Given the description of an element on the screen output the (x, y) to click on. 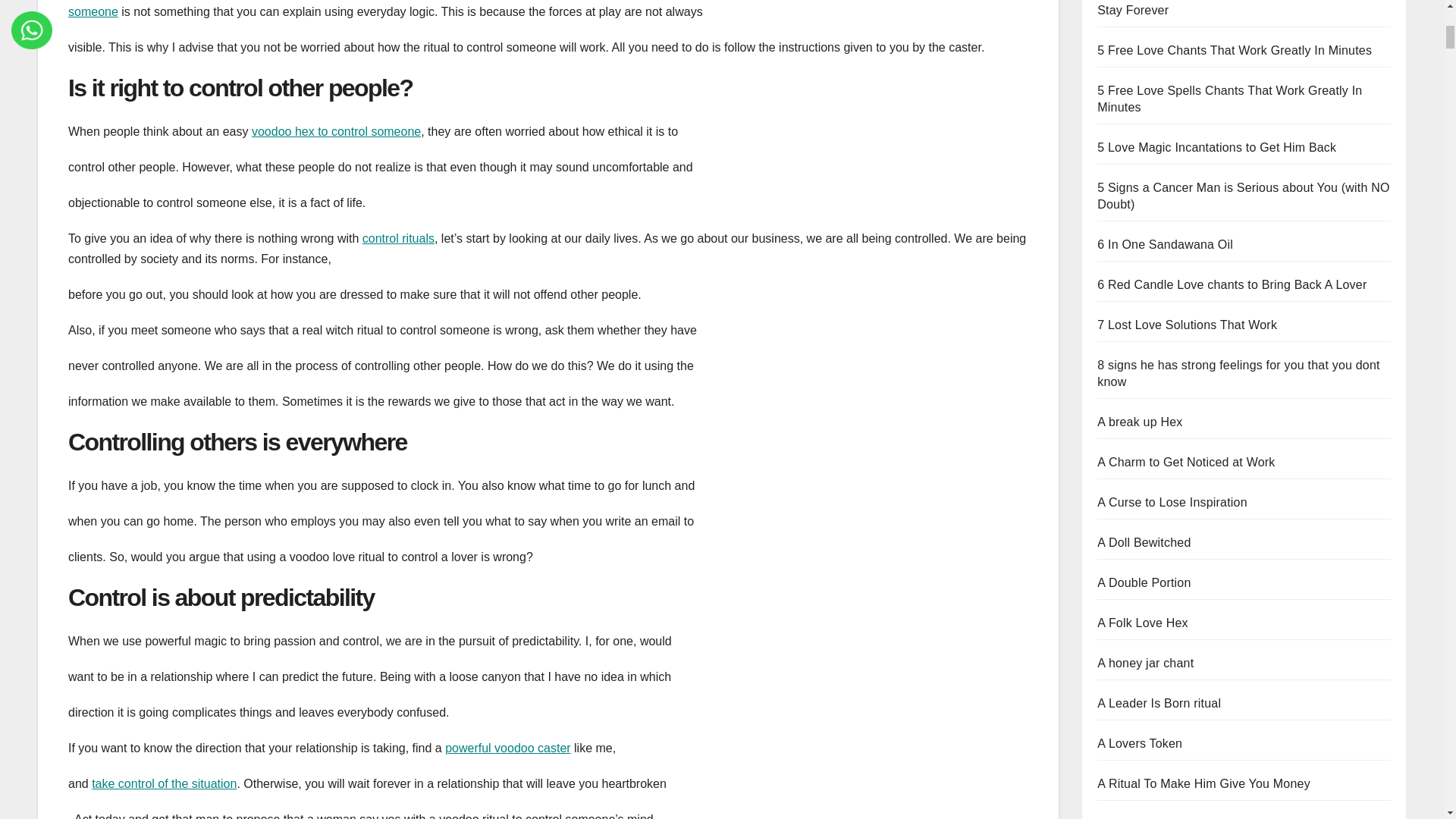
powerful voodoo caster (507, 748)
take control of the situation (163, 783)
control rituals (397, 237)
someone (92, 11)
voodoo hex to control someone (335, 131)
